Given the description of an element on the screen output the (x, y) to click on. 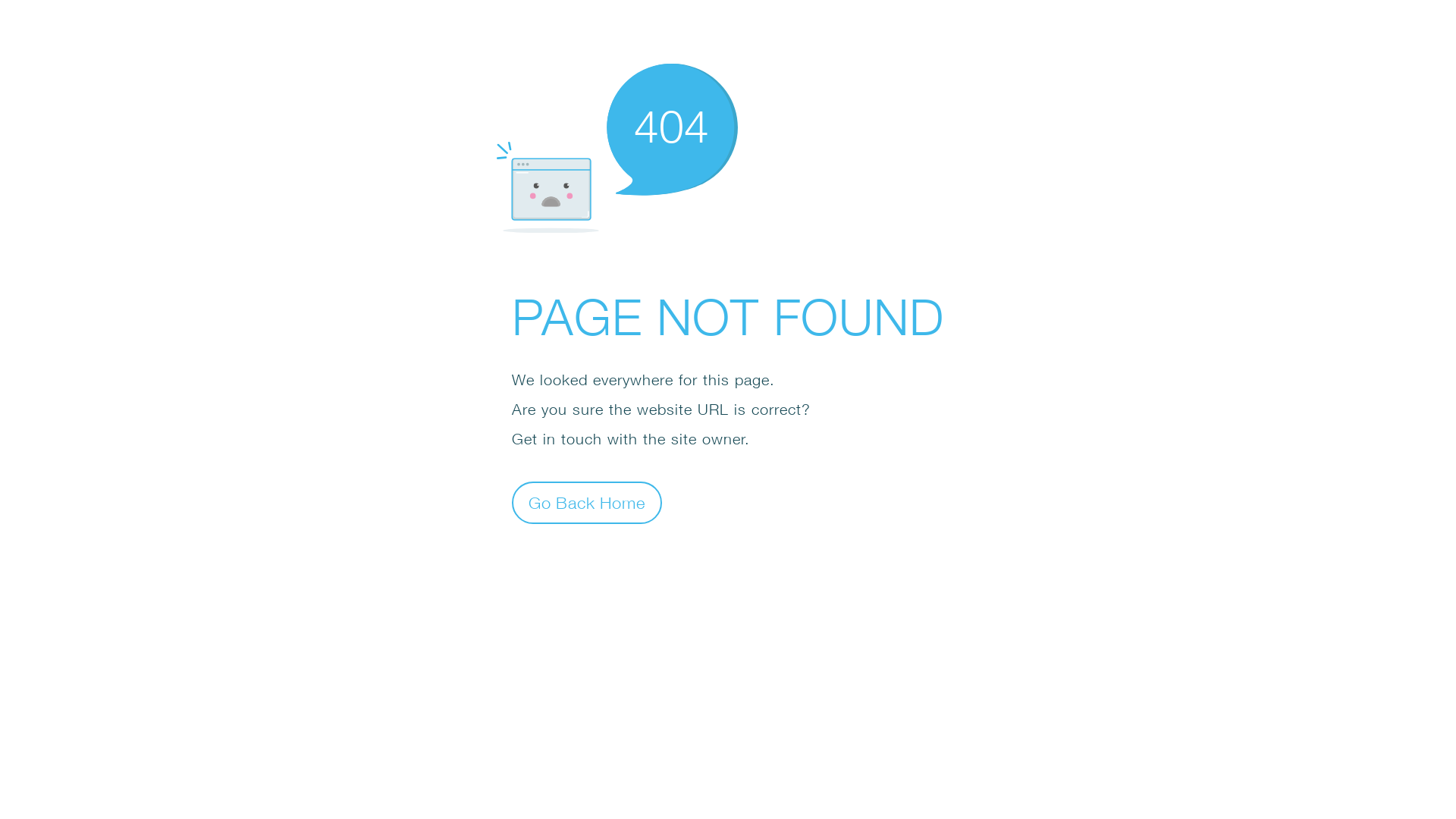
Go Back Home Element type: text (586, 502)
